Given the description of an element on the screen output the (x, y) to click on. 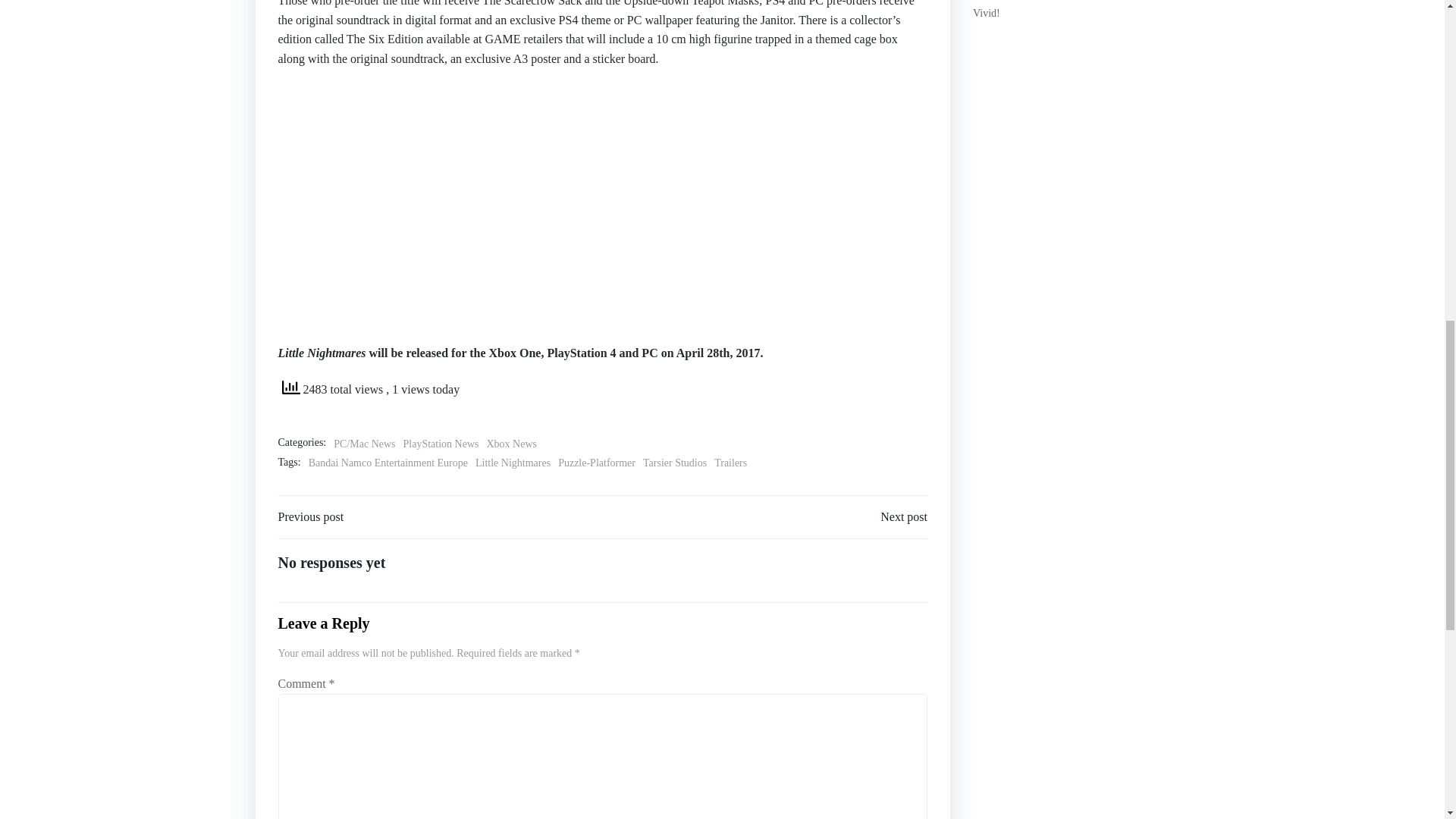
Tarsier Studios Tag (674, 463)
Little Nightmares Tag (513, 463)
Trailers Tag (730, 463)
Bandai Namco Entertainment Europe Tag (387, 463)
Puzzle-Platformer (595, 463)
Puzzle-Platformer Tag (595, 463)
PlayStation News (441, 443)
Bandai Namco Entertainment Europe (387, 463)
Trailers (730, 463)
Vivid! (986, 12)
Previous post (310, 516)
Little Nightmares (513, 463)
Xbox News (511, 443)
Tarsier Studios (674, 463)
Next post (903, 516)
